Given the description of an element on the screen output the (x, y) to click on. 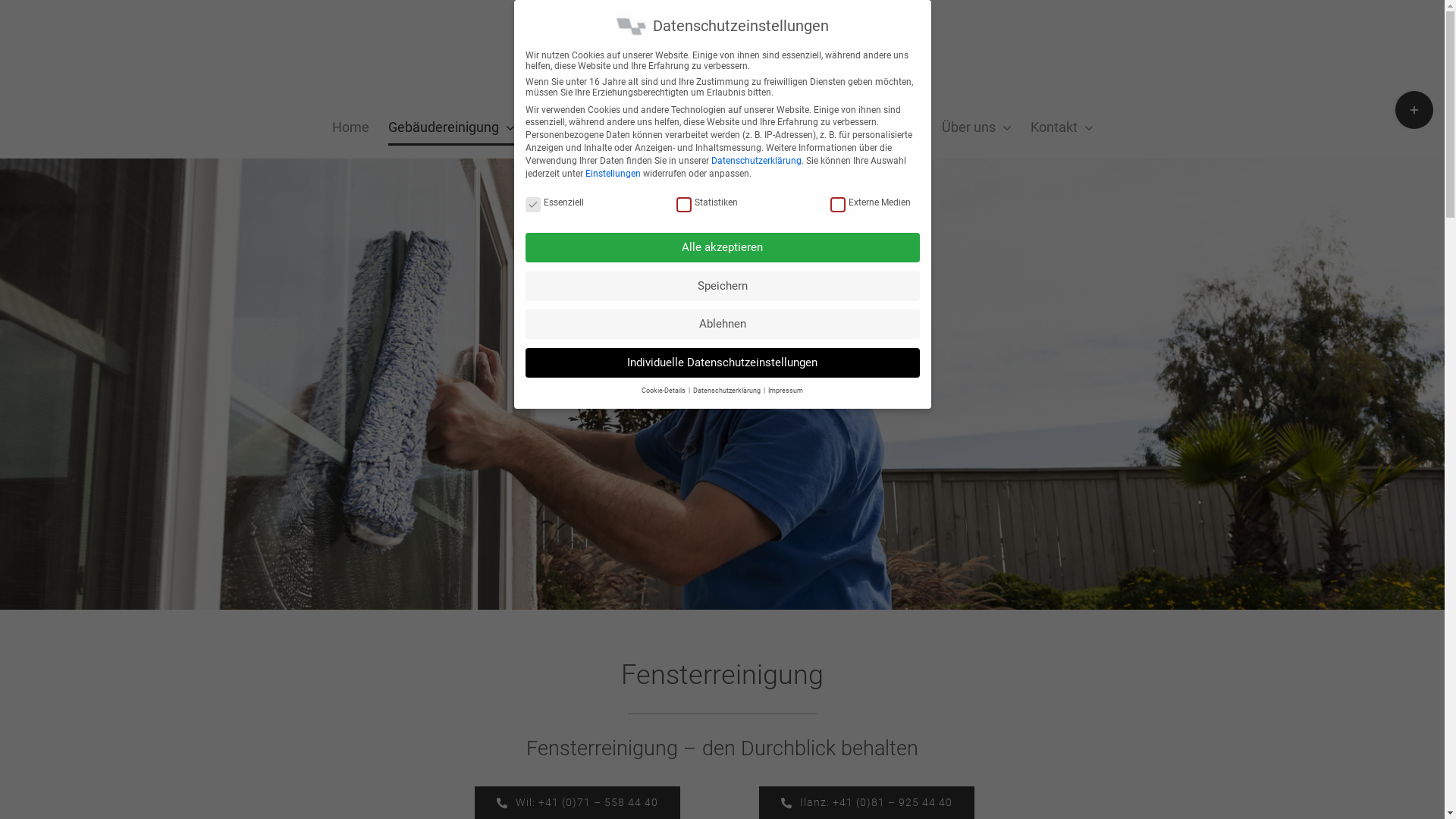
Kontakt Element type: text (1061, 127)
Cookie-Details Element type: text (664, 390)
Toggle Sliding Bar Area Element type: text (1414, 109)
Ablehnen Element type: text (721, 323)
Speichern Element type: text (721, 285)
Hauswartung Element type: text (574, 127)
Impressum Element type: text (785, 390)
Offene Stellen Element type: text (801, 127)
Standorte Element type: text (892, 127)
Offerte anfordern Element type: text (686, 127)
Alle akzeptieren Element type: text (721, 247)
Einstellungen Element type: text (612, 173)
Home Element type: text (350, 127)
Individuelle Datenschutzeinstellungen Element type: text (721, 362)
